Given the description of an element on the screen output the (x, y) to click on. 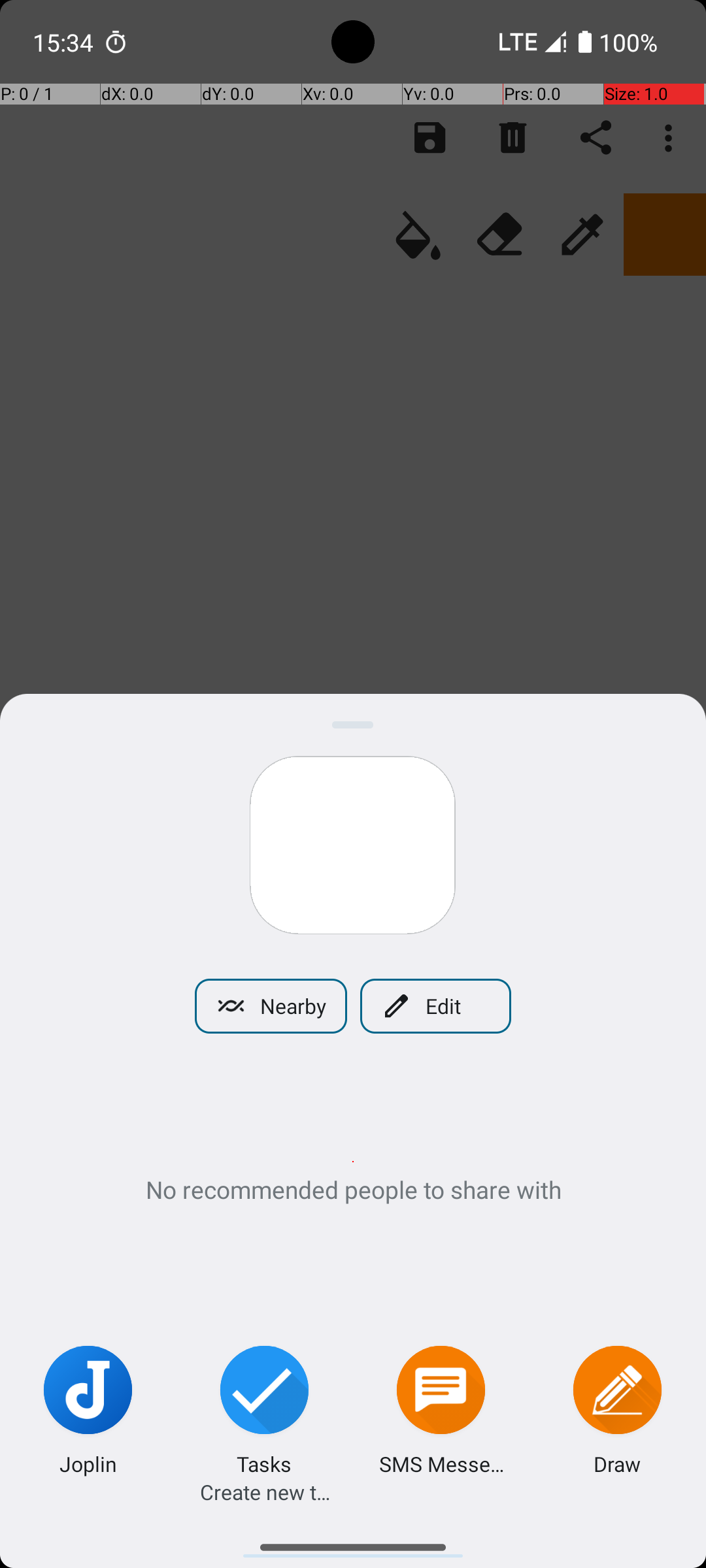
Draw Element type: android.widget.TextView (617, 1463)
